Given the description of an element on the screen output the (x, y) to click on. 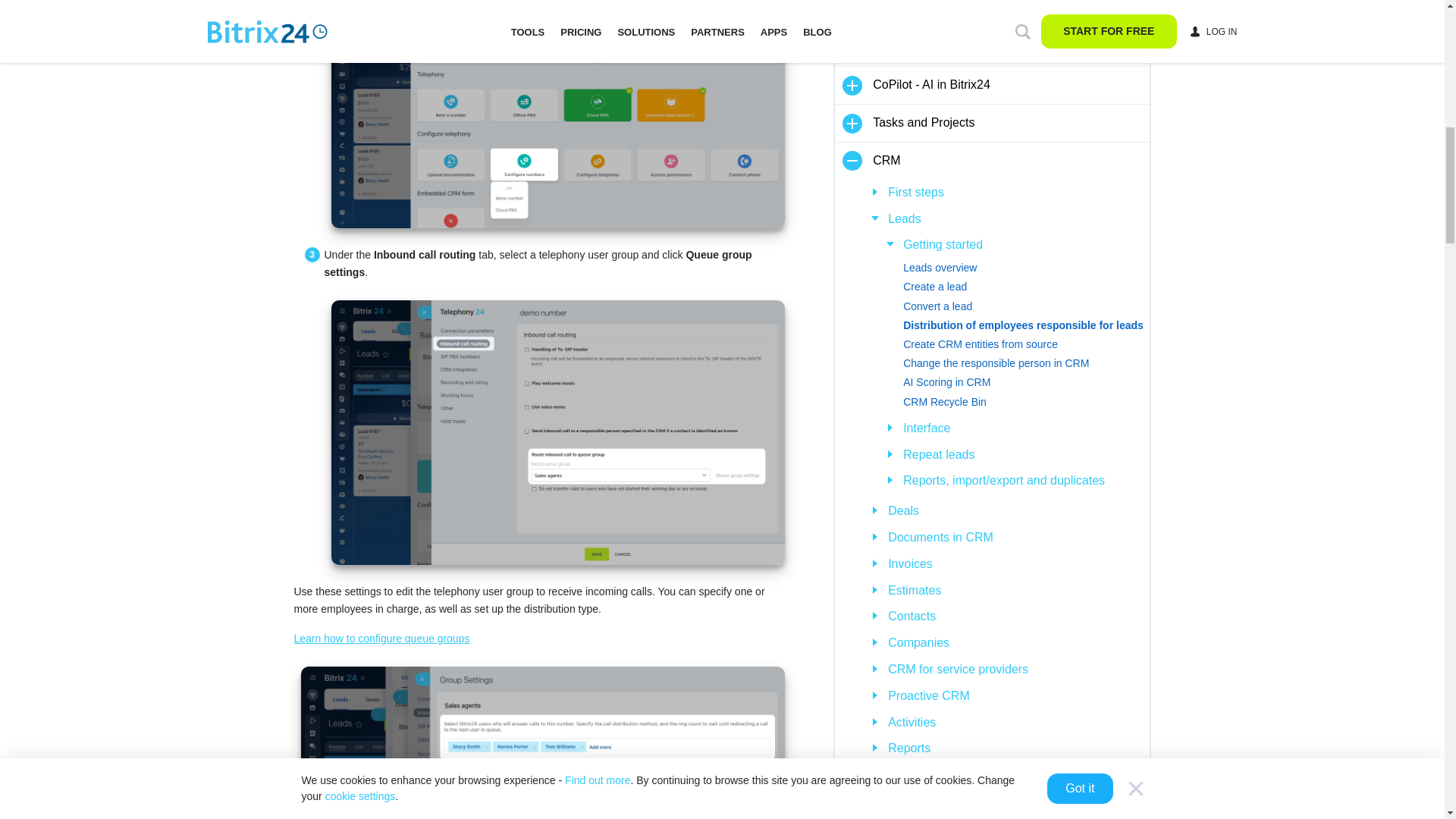
Queue group settings (557, 432)
Change the responsible person in CRM (1025, 363)
Convert a lead (1025, 306)
Agents (541, 742)
Distribution of employees responsible for leads (1025, 325)
CRM Recycle Bin (1025, 402)
Leads overview (1025, 267)
Learn how to configure queue groups (382, 638)
Create a lead (1025, 286)
AI Scoring in CRM (1025, 382)
Create CRM entities from source (1025, 343)
Configure numbers (557, 114)
